Given the description of an element on the screen output the (x, y) to click on. 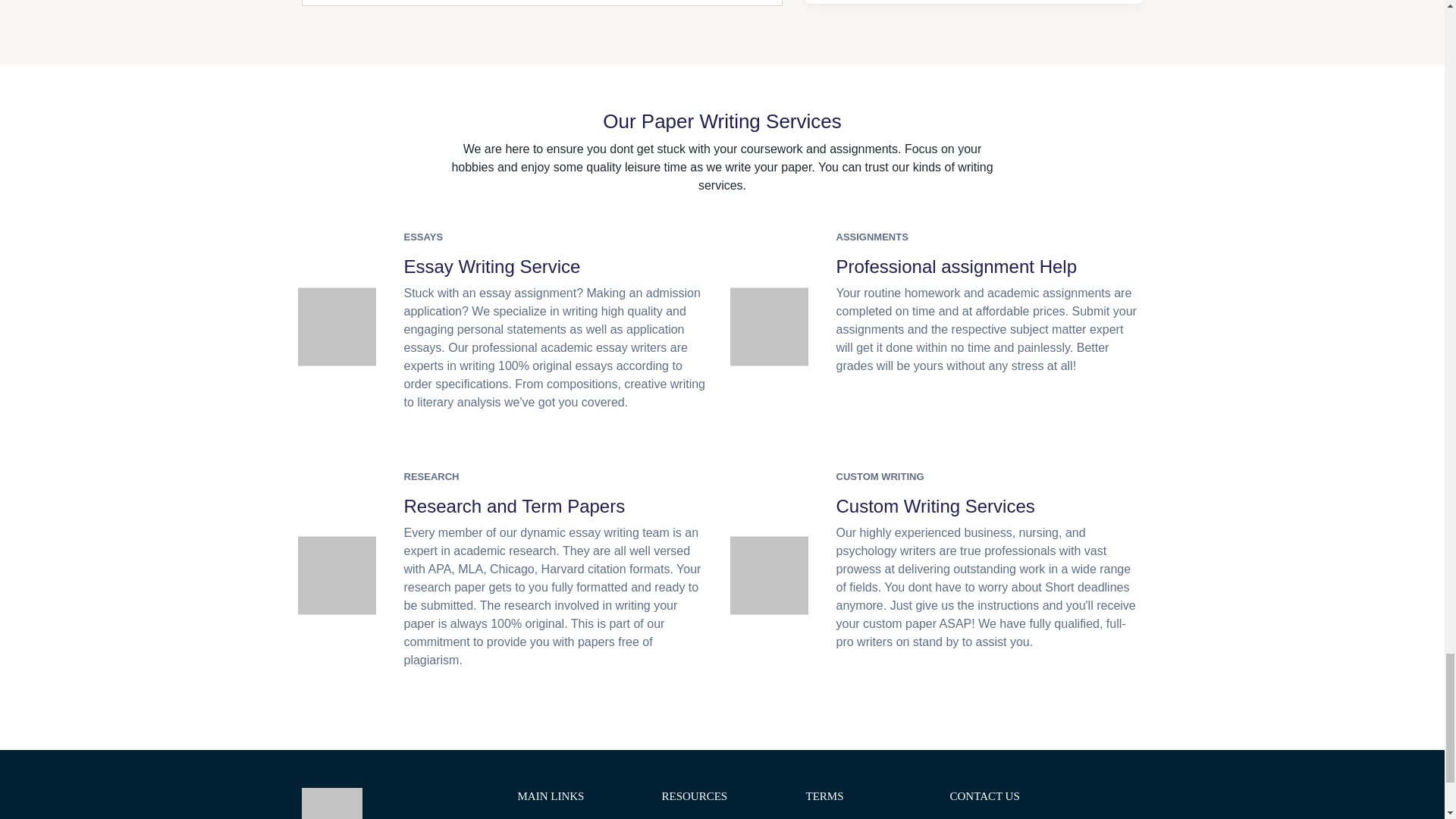
Homework Answers (722, 818)
Terms and Conditions (865, 818)
Home (577, 818)
